Given the description of an element on the screen output the (x, y) to click on. 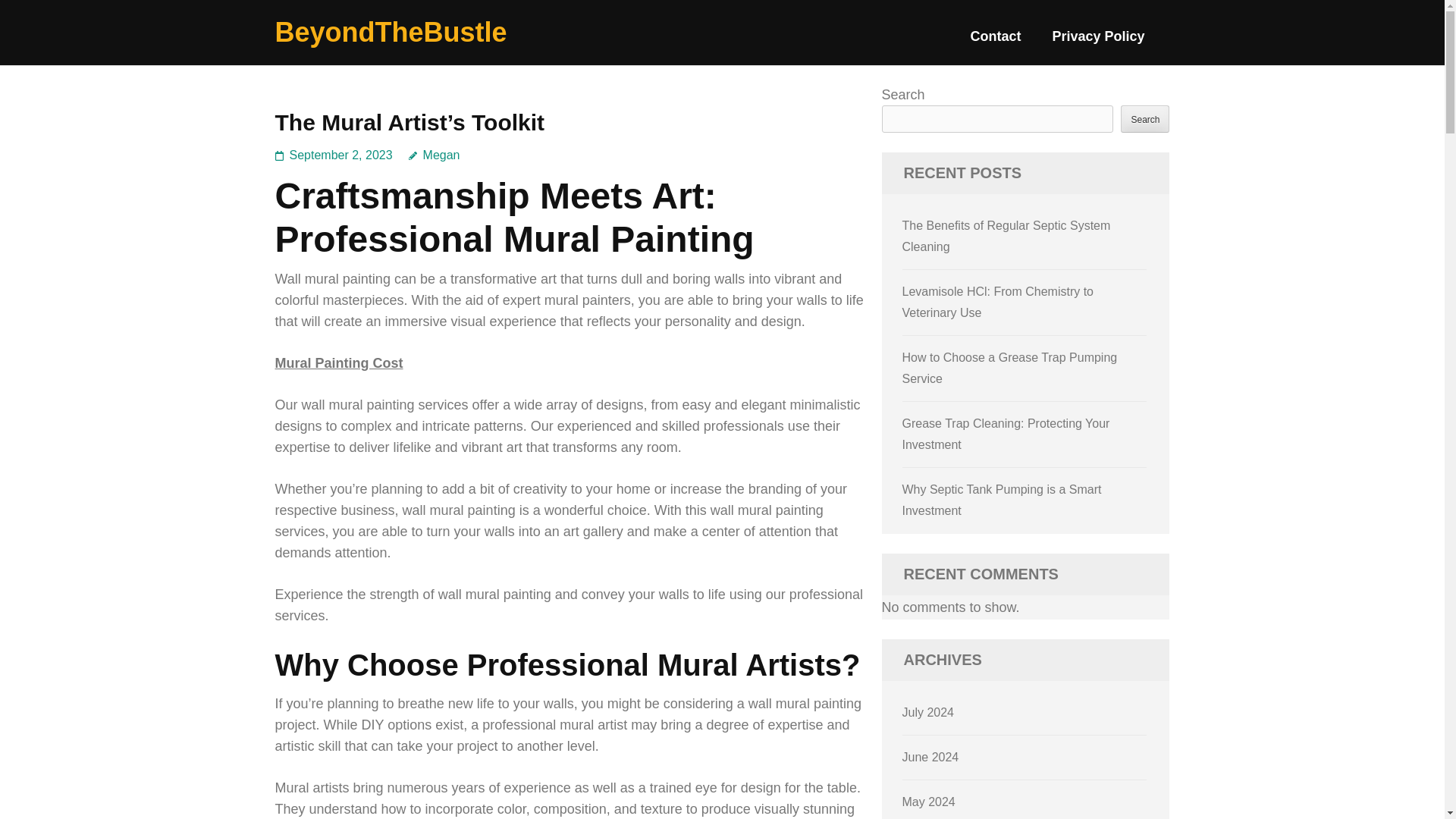
July 2024 (928, 712)
June 2024 (930, 757)
Why Septic Tank Pumping is a Smart Investment (1002, 499)
Levamisole HCl: From Chemistry to Veterinary Use (998, 302)
May 2024 (928, 801)
Megan (434, 154)
Search (1145, 118)
Privacy Policy (1097, 42)
BeyondTheBustle (390, 31)
How to Choose a Grease Trap Pumping Service (1010, 367)
Mural Painting Cost (339, 363)
September 2, 2023 (341, 154)
The Benefits of Regular Septic System Cleaning (1006, 236)
Contact (994, 42)
Grease Trap Cleaning: Protecting Your Investment (1005, 433)
